Given the description of an element on the screen output the (x, y) to click on. 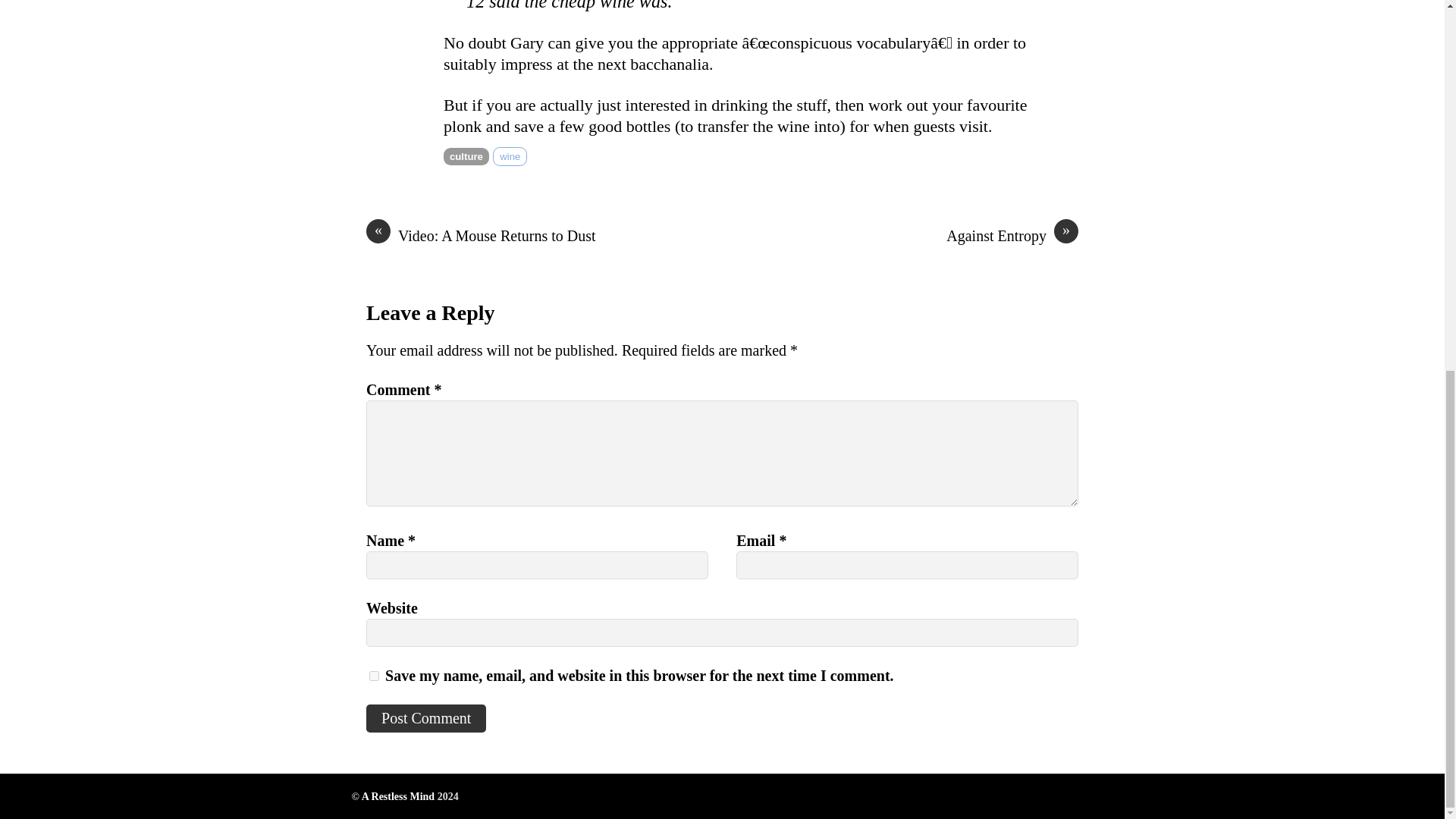
wine tag (510, 156)
Post Comment (426, 718)
yes (373, 675)
culture (466, 156)
culture (466, 156)
Post Comment (426, 718)
wine (510, 156)
